Given the description of an element on the screen output the (x, y) to click on. 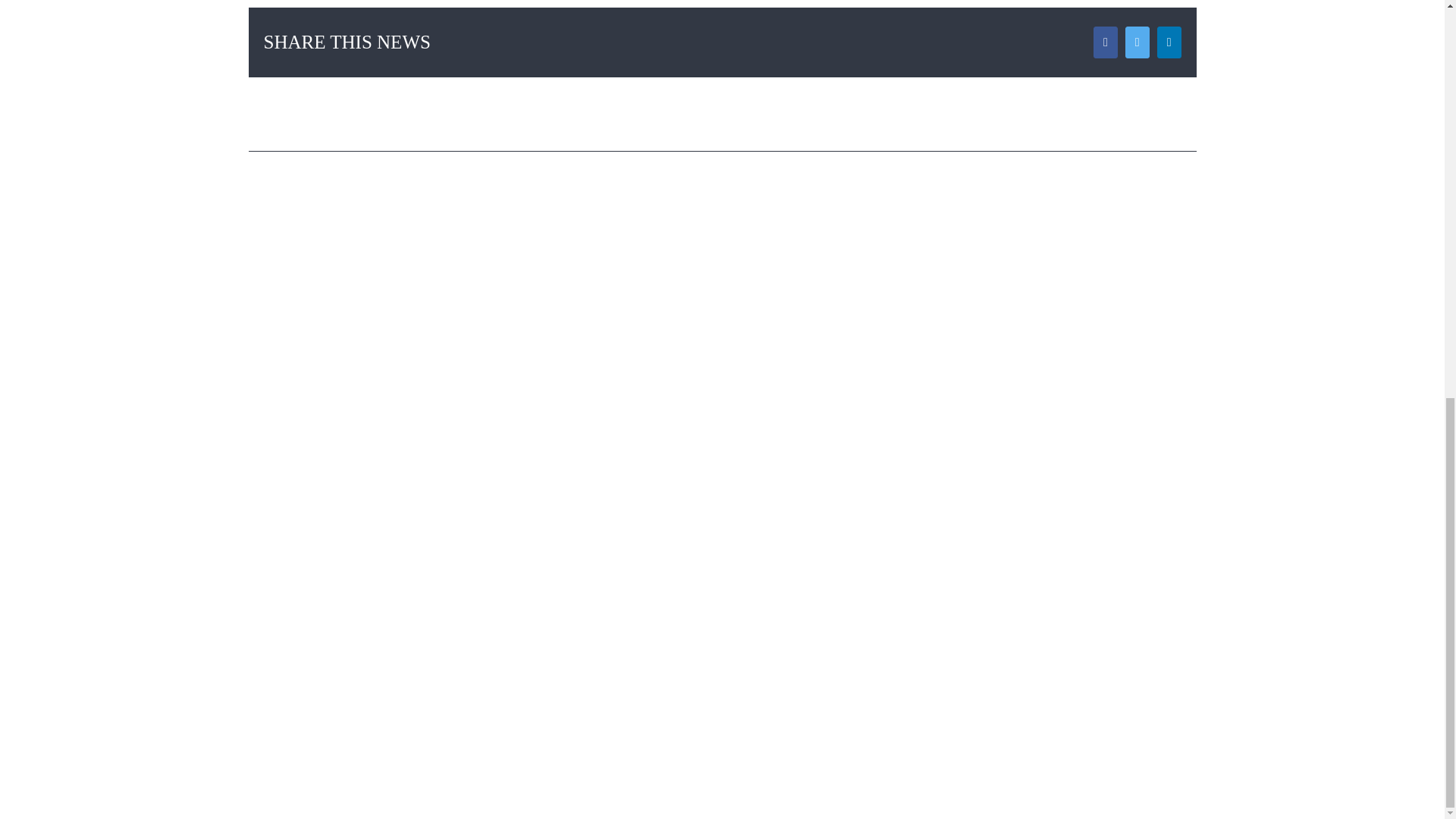
twitter (1377, 7)
facebook (1338, 7)
